Given the description of an element on the screen output the (x, y) to click on. 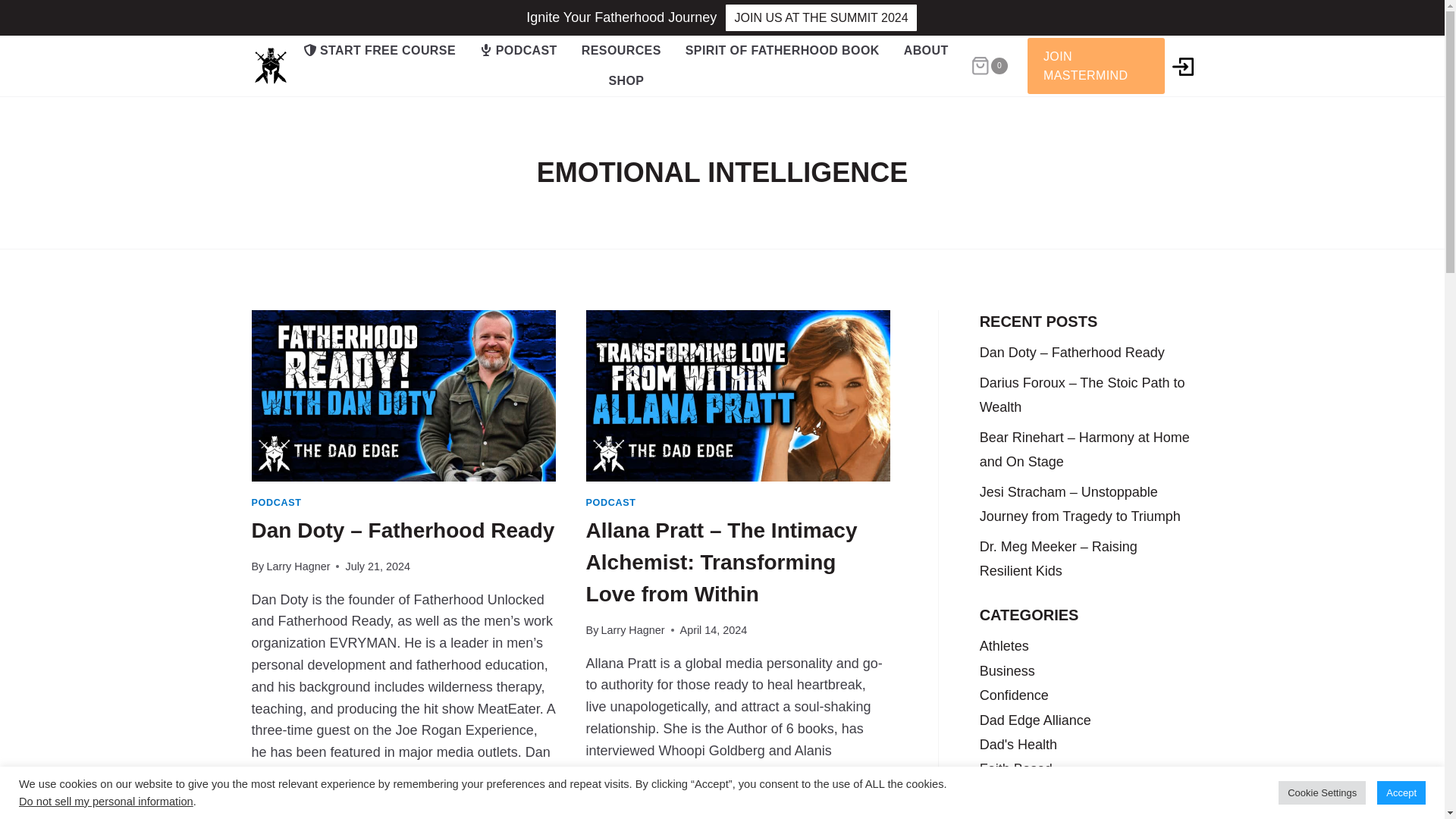
Larry Hagner (298, 566)
0 (989, 66)
SHOP (625, 81)
SPIRIT OF FATHERHOOD BOOK (781, 51)
Larry Hagner (633, 630)
RESOURCES (620, 51)
JOIN US AT THE SUMMIT 2024 (820, 17)
PODCAST (276, 502)
PODCAST (518, 51)
PODCAST (611, 502)
